Given the description of an element on the screen output the (x, y) to click on. 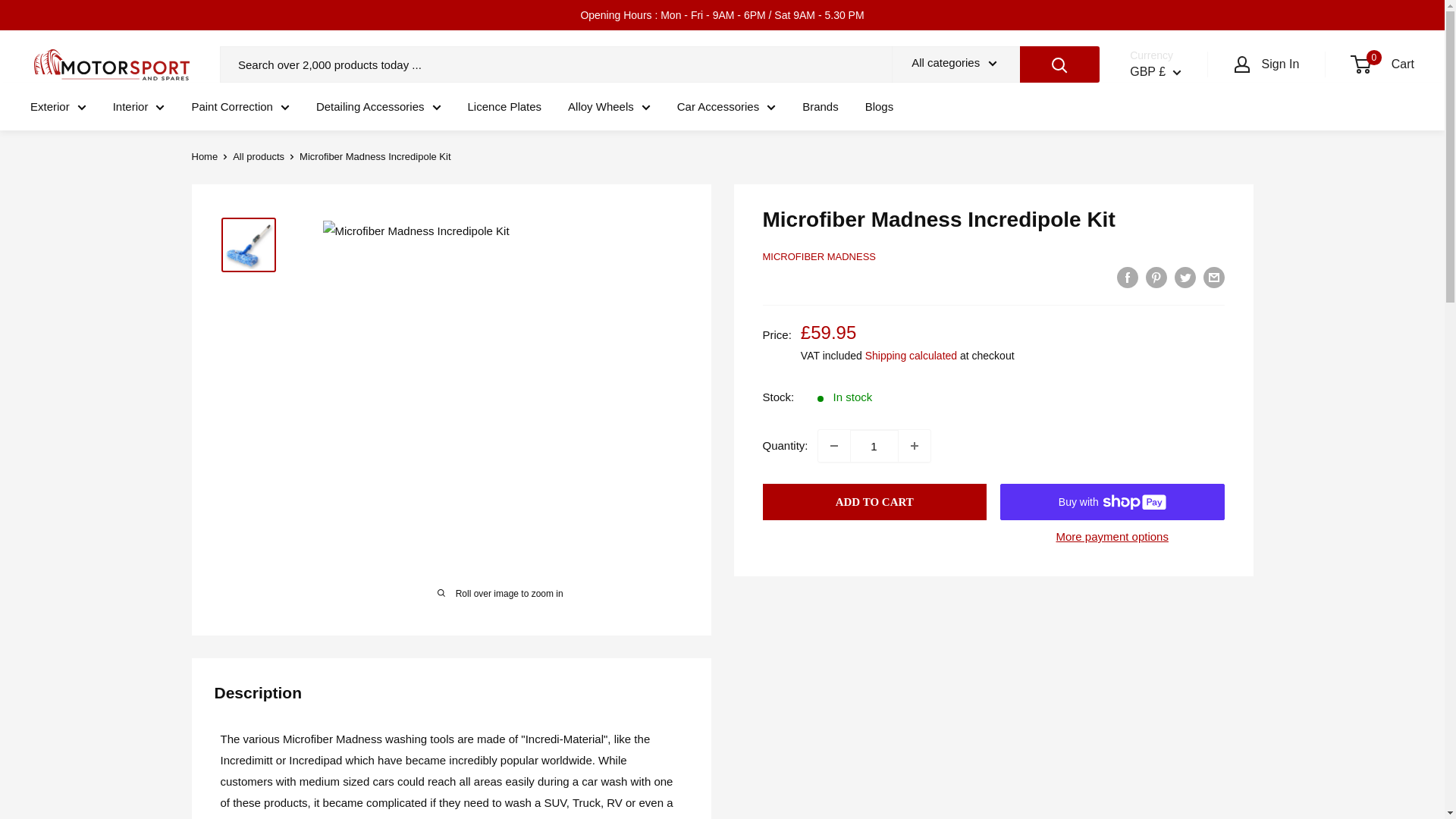
1 (874, 445)
Increase quantity by 1 (914, 445)
Decrease quantity by 1 (834, 445)
